Given the description of an element on the screen output the (x, y) to click on. 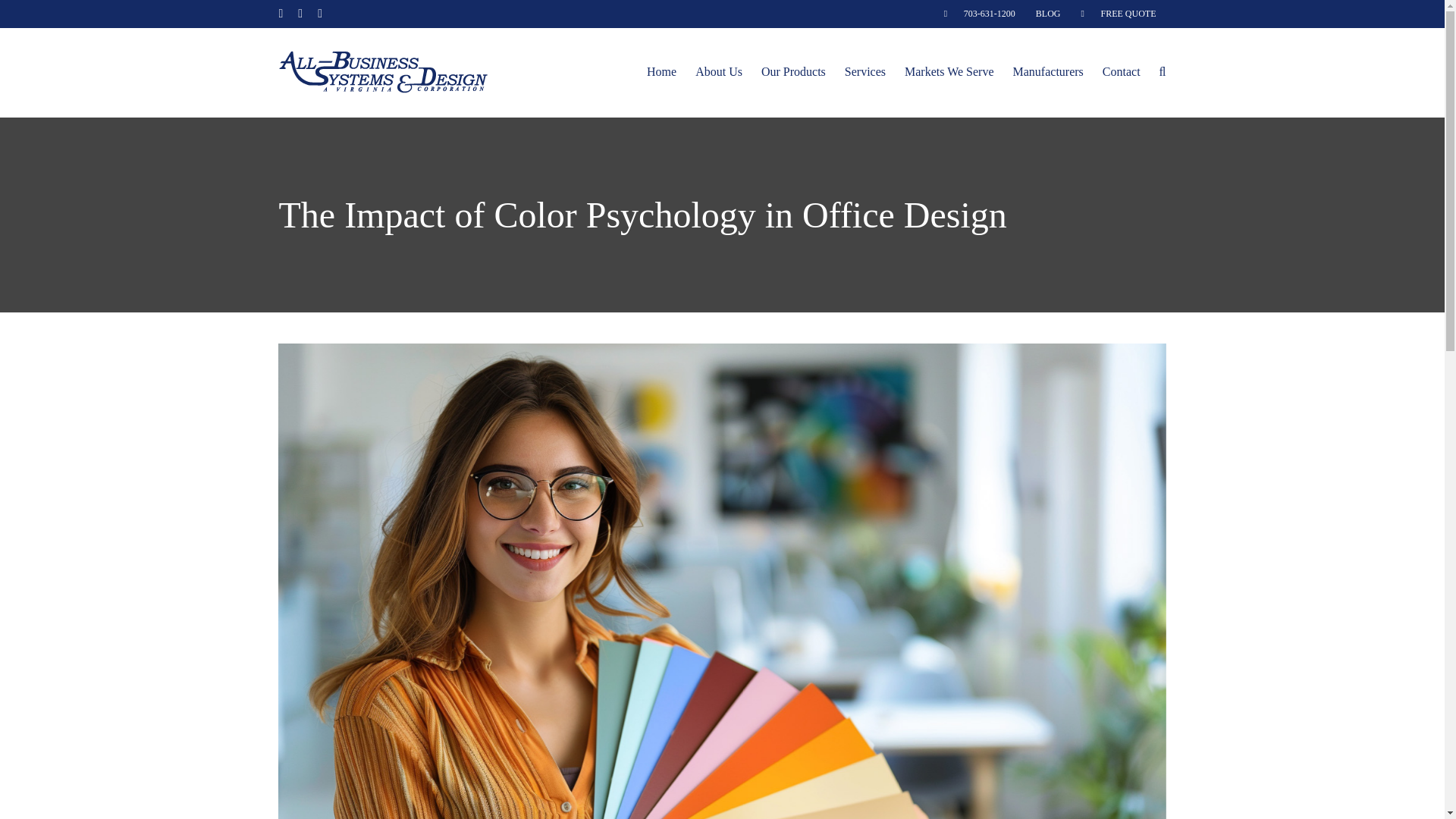
703-631-1200 (979, 13)
Contact (1121, 71)
Our Products (793, 71)
Markets We Serve (949, 71)
BLOG (1048, 13)
Manufacturers (1048, 71)
About Us (718, 71)
Services (864, 71)
FREE QUOTE (1118, 13)
